Given the description of an element on the screen output the (x, y) to click on. 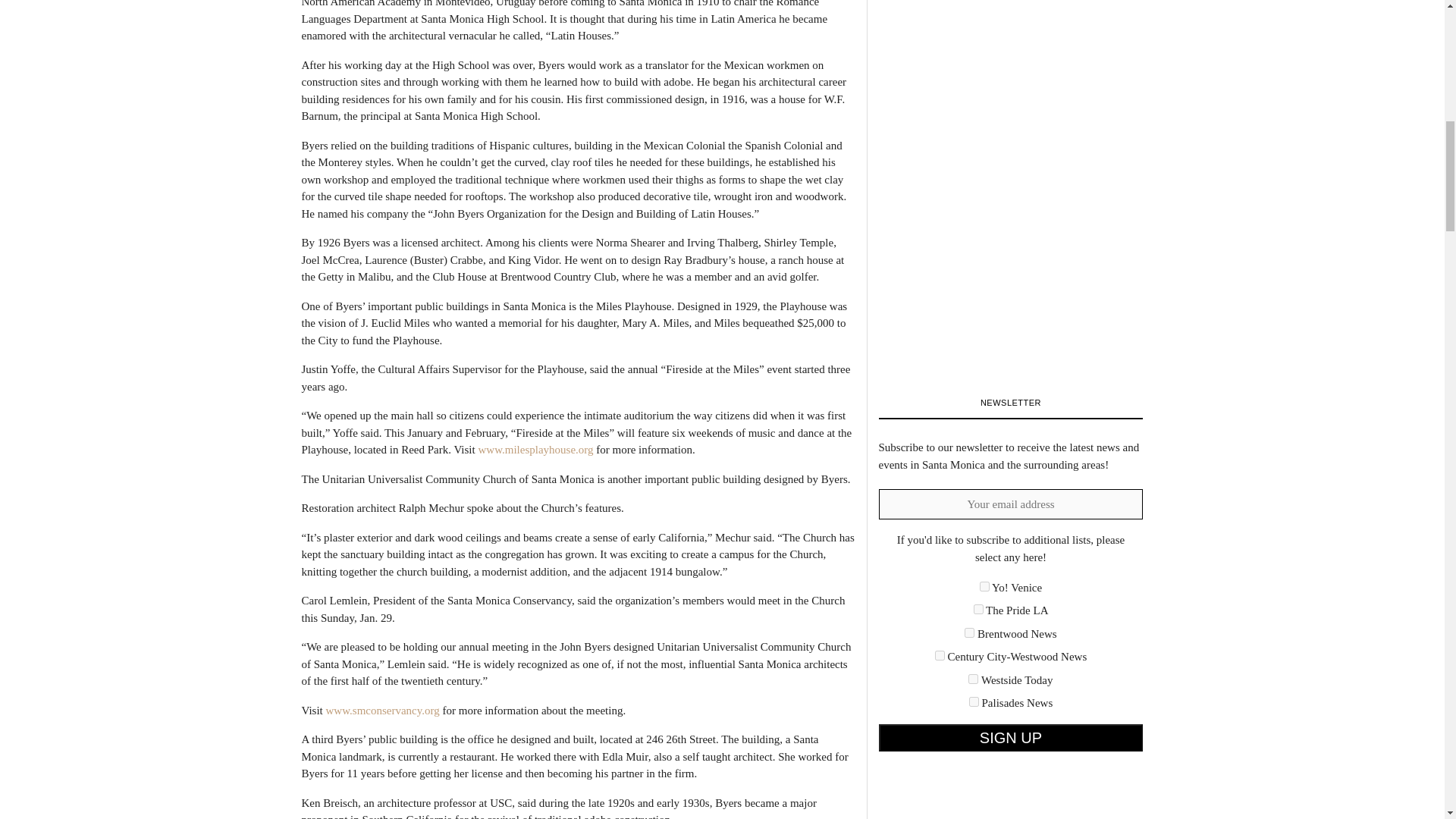
382281a661 (968, 633)
2c616d28b5 (984, 586)
www.milesplayhouse.org (534, 449)
33f79e7e4d (979, 609)
5fac618226 (939, 655)
Sign up (1009, 737)
ec7d882848 (973, 701)
www.smconservancy.org (382, 709)
a3d1b6d535 (973, 678)
